Given the description of an element on the screen output the (x, y) to click on. 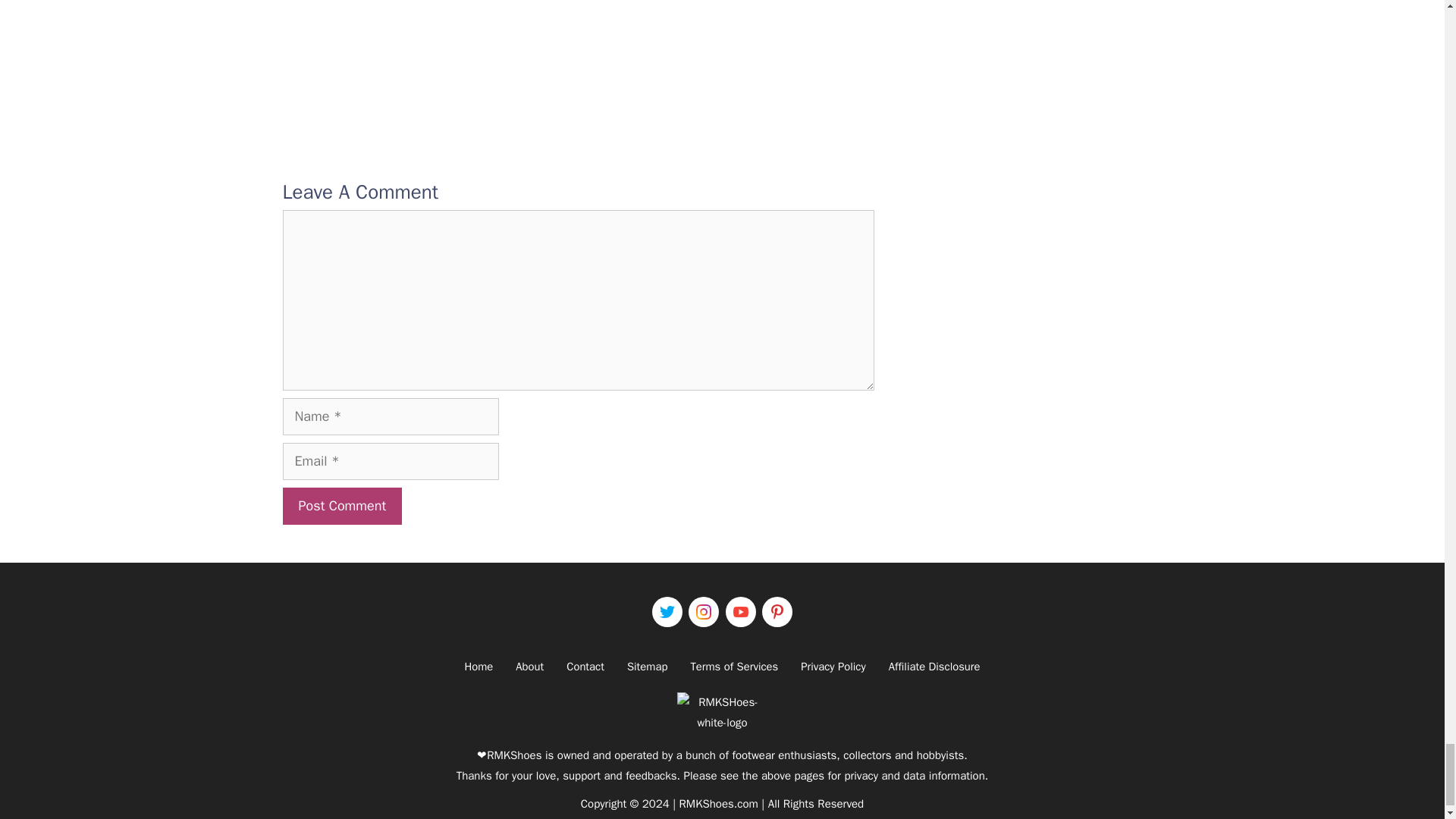
Twitter (667, 612)
Instagram (703, 612)
Post Comment (341, 505)
Youtube (740, 612)
